Given the description of an element on the screen output the (x, y) to click on. 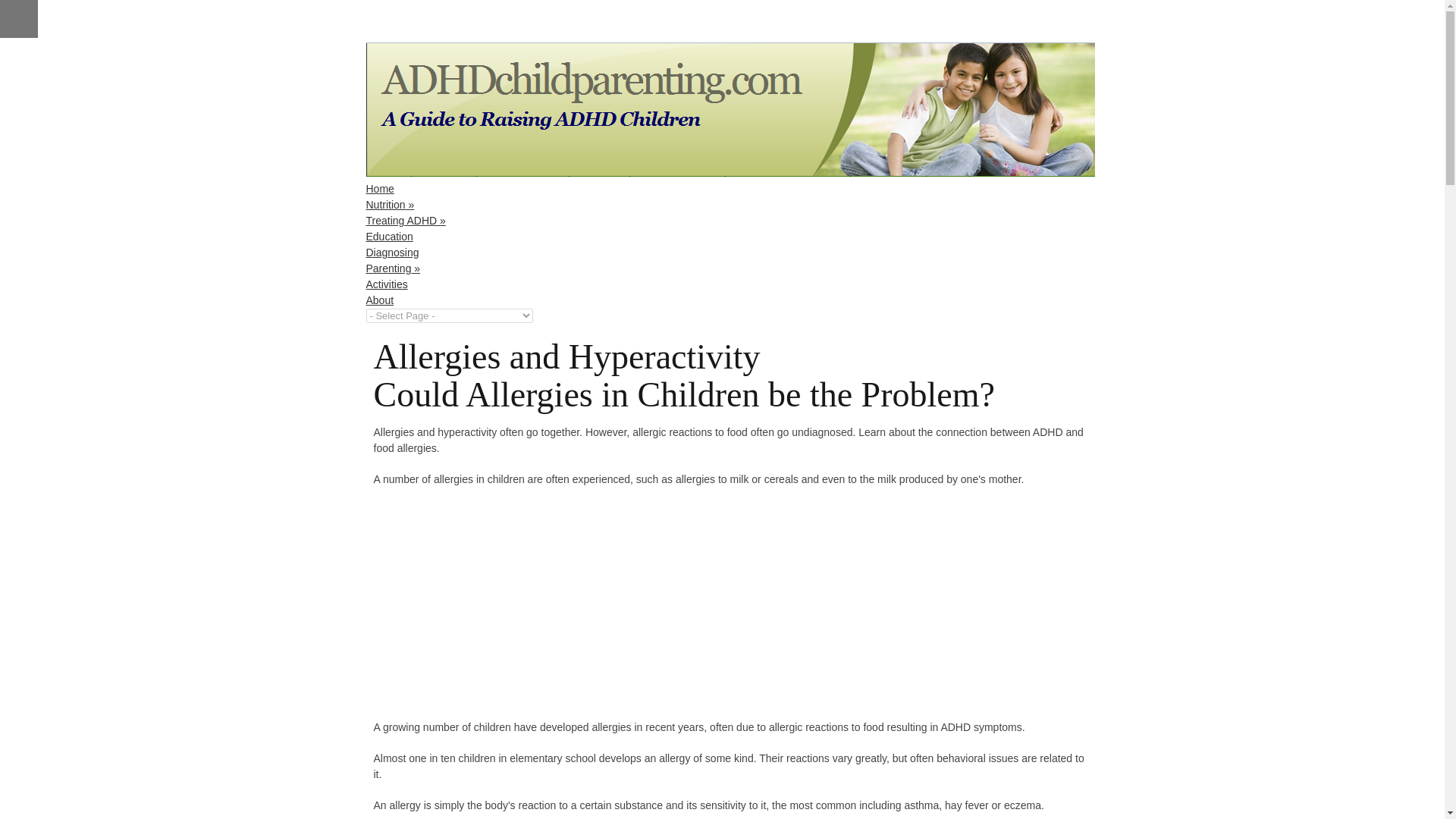
About (379, 300)
Activities (386, 284)
Education (388, 236)
Home (379, 188)
Diagnosing (392, 252)
Advertisement (499, 608)
